Given the description of an element on the screen output the (x, y) to click on. 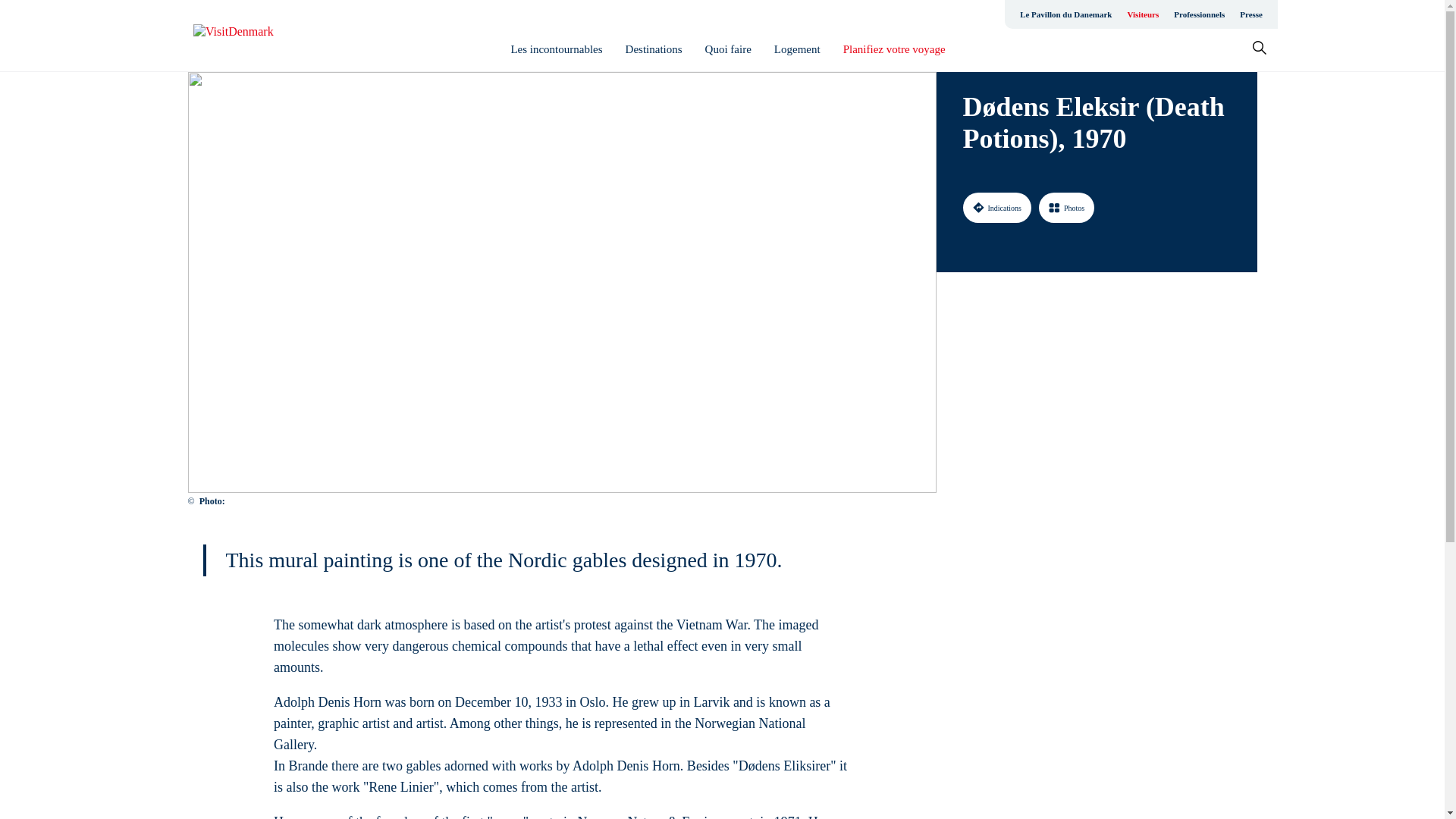
Planifiez votre voyage (893, 49)
Quoi faire (727, 49)
Indications (996, 207)
Presse (1250, 14)
Professionnels (1198, 14)
Le Pavillon du Danemark (1065, 14)
Les incontournables (556, 49)
Photos (1066, 207)
Logement (797, 49)
Destinations (654, 49)
